Given the description of an element on the screen output the (x, y) to click on. 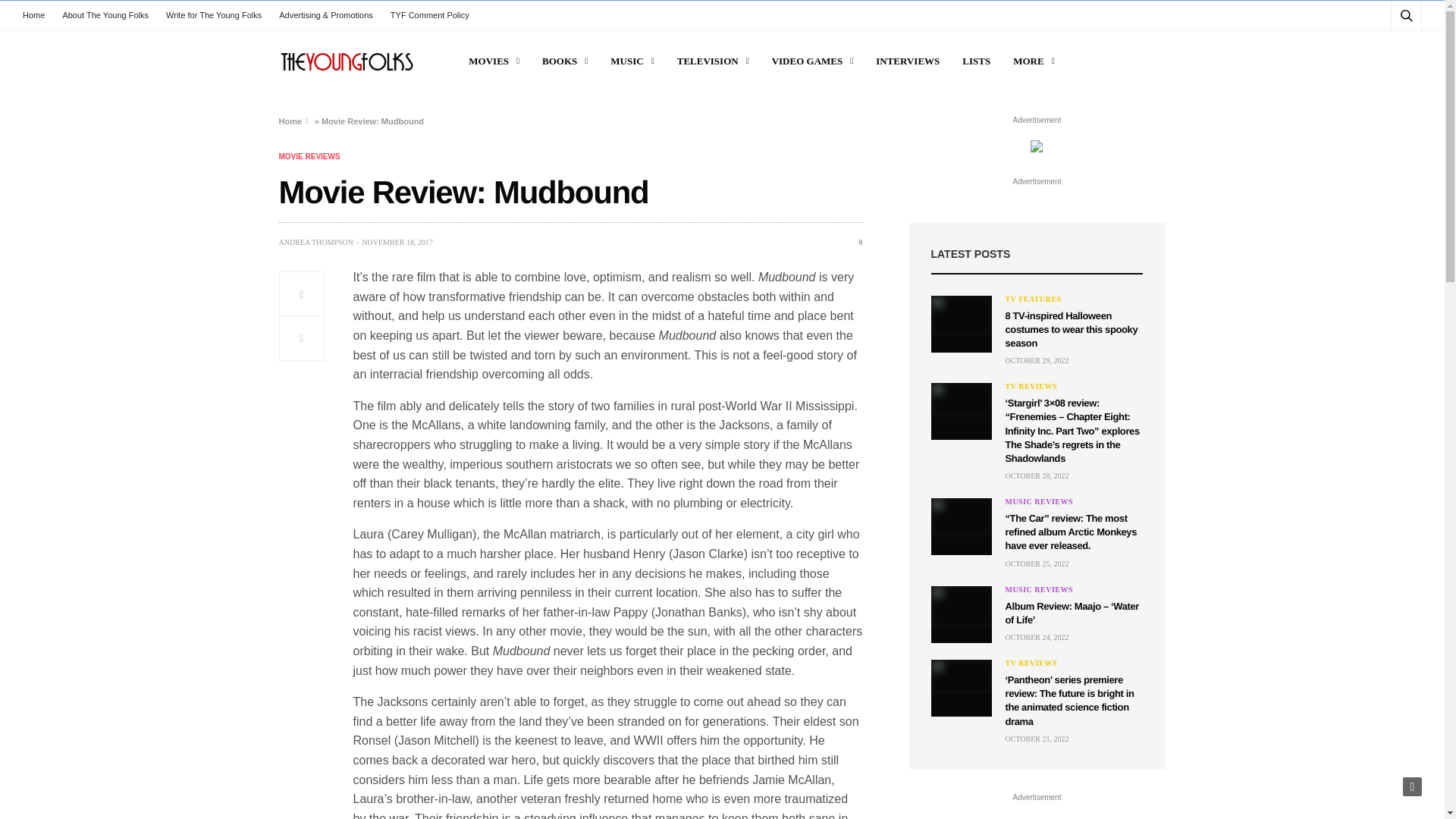
Write for The Young Folks (213, 15)
Movie Reviews (309, 156)
TELEVISION (713, 61)
Lists (976, 61)
Movies (493, 61)
Posts by Andrea Thompson (316, 242)
Search (1386, 51)
MOVIES (493, 61)
MUSIC (631, 61)
Home (37, 15)
